Given the description of an element on the screen output the (x, y) to click on. 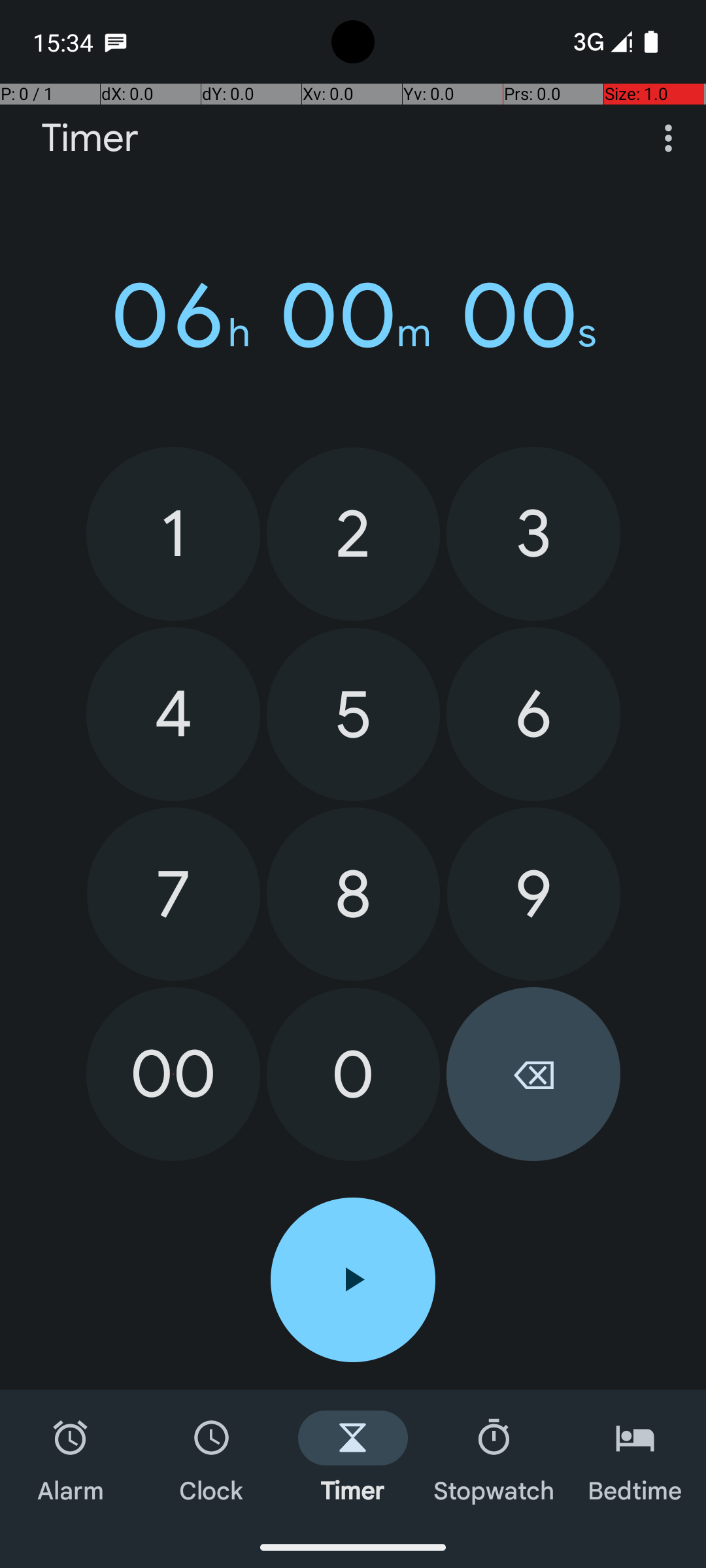
06h 00m 00s Element type: android.widget.TextView (353, 315)
